Given the description of an element on the screen output the (x, y) to click on. 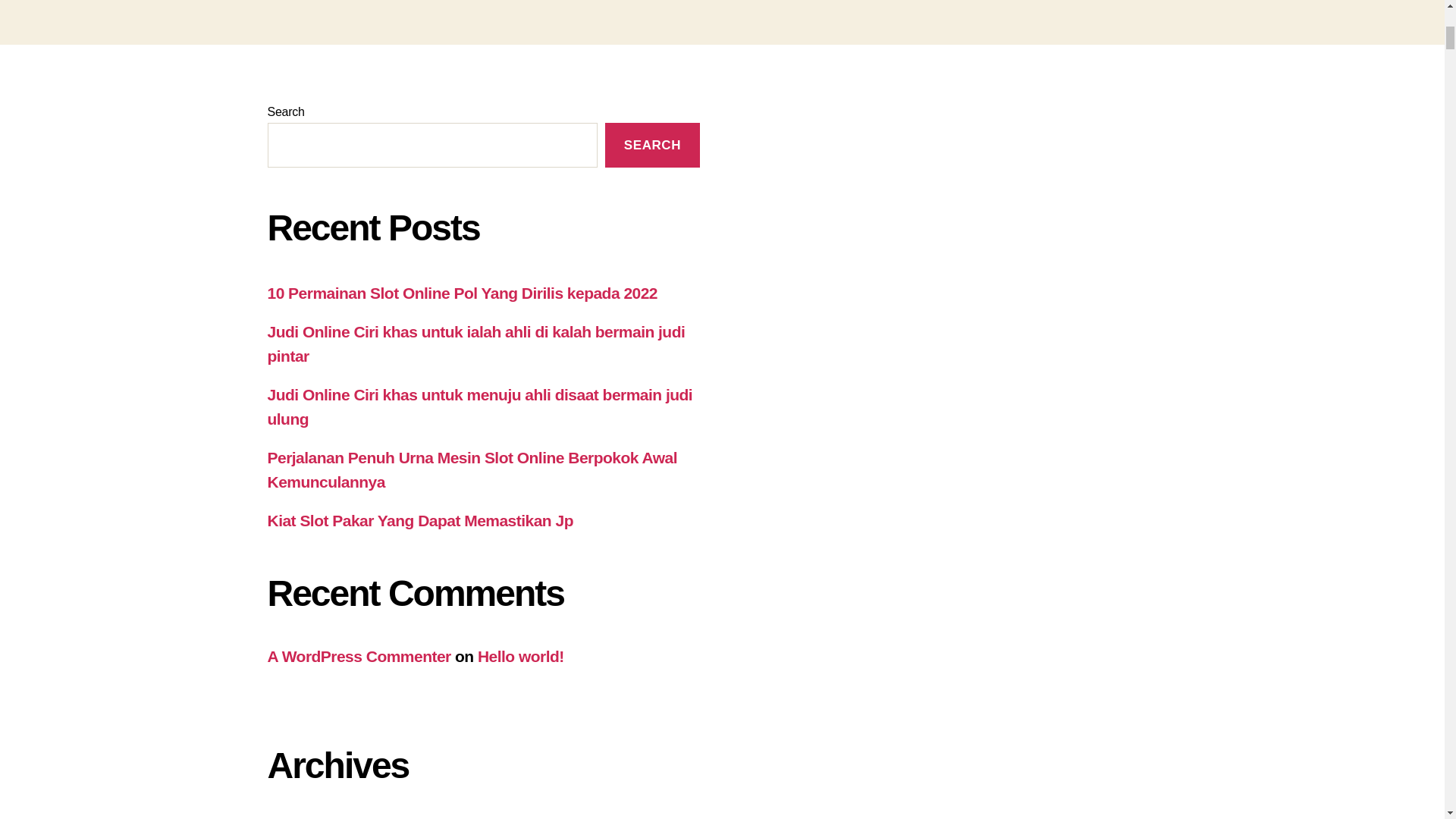
SEARCH (651, 144)
10 Permainan Slot Online Pol Yang Dirilis kepada 2022 (462, 293)
Kiat Slot Pakar Yang Dapat Memastikan Jp (419, 520)
Hello world! (520, 656)
A WordPress Commenter (357, 656)
